Given the description of an element on the screen output the (x, y) to click on. 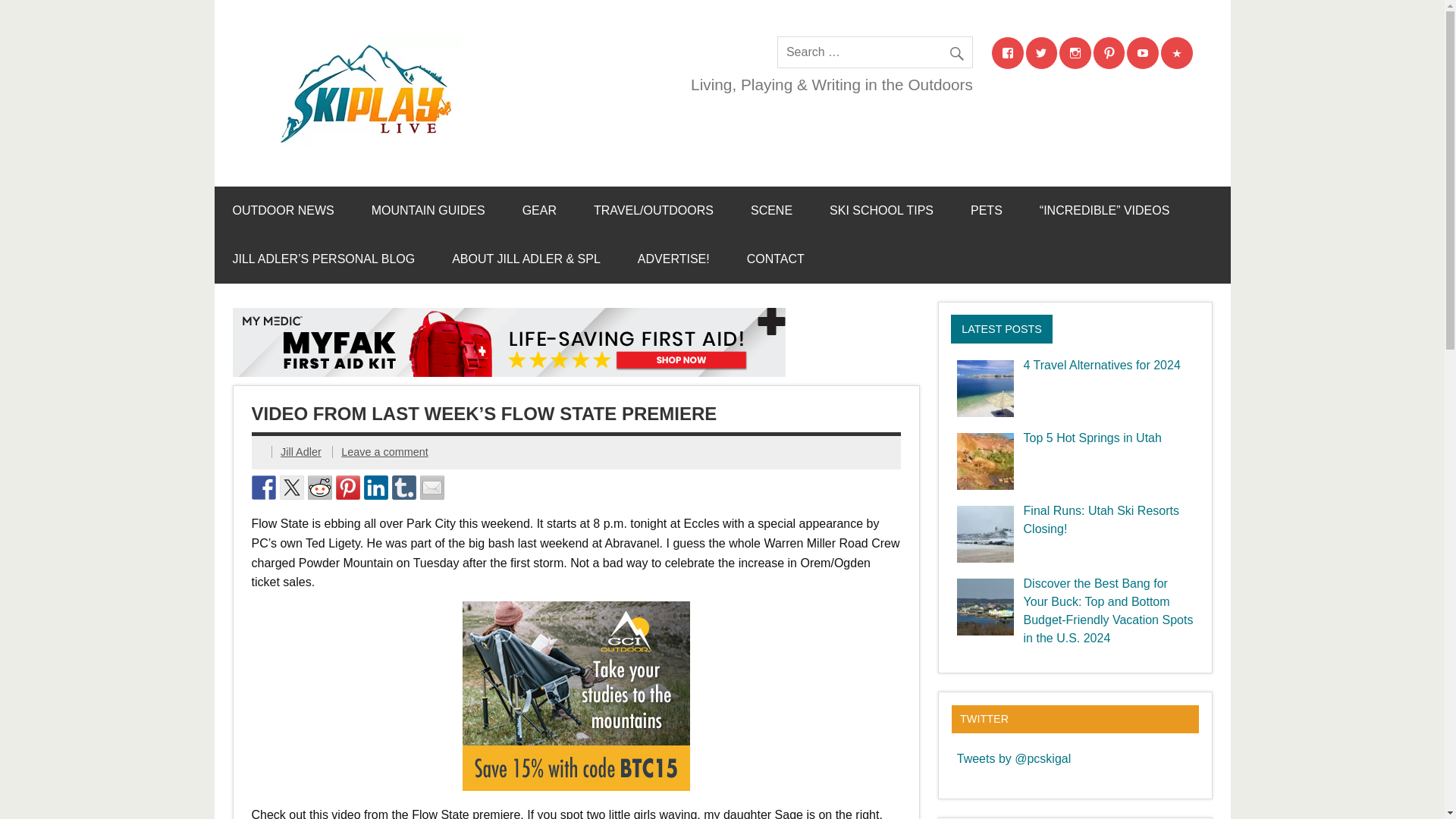
OUTDOOR NEWS (283, 210)
Share on Twitter (290, 487)
Share on tumblr (402, 487)
GEAR (539, 210)
PETS (986, 210)
Share by email (432, 487)
Share on Linkedin (376, 487)
Share on Reddit (319, 487)
SCENE (771, 210)
View all posts by Jill Adler (301, 451)
